Given the description of an element on the screen output the (x, y) to click on. 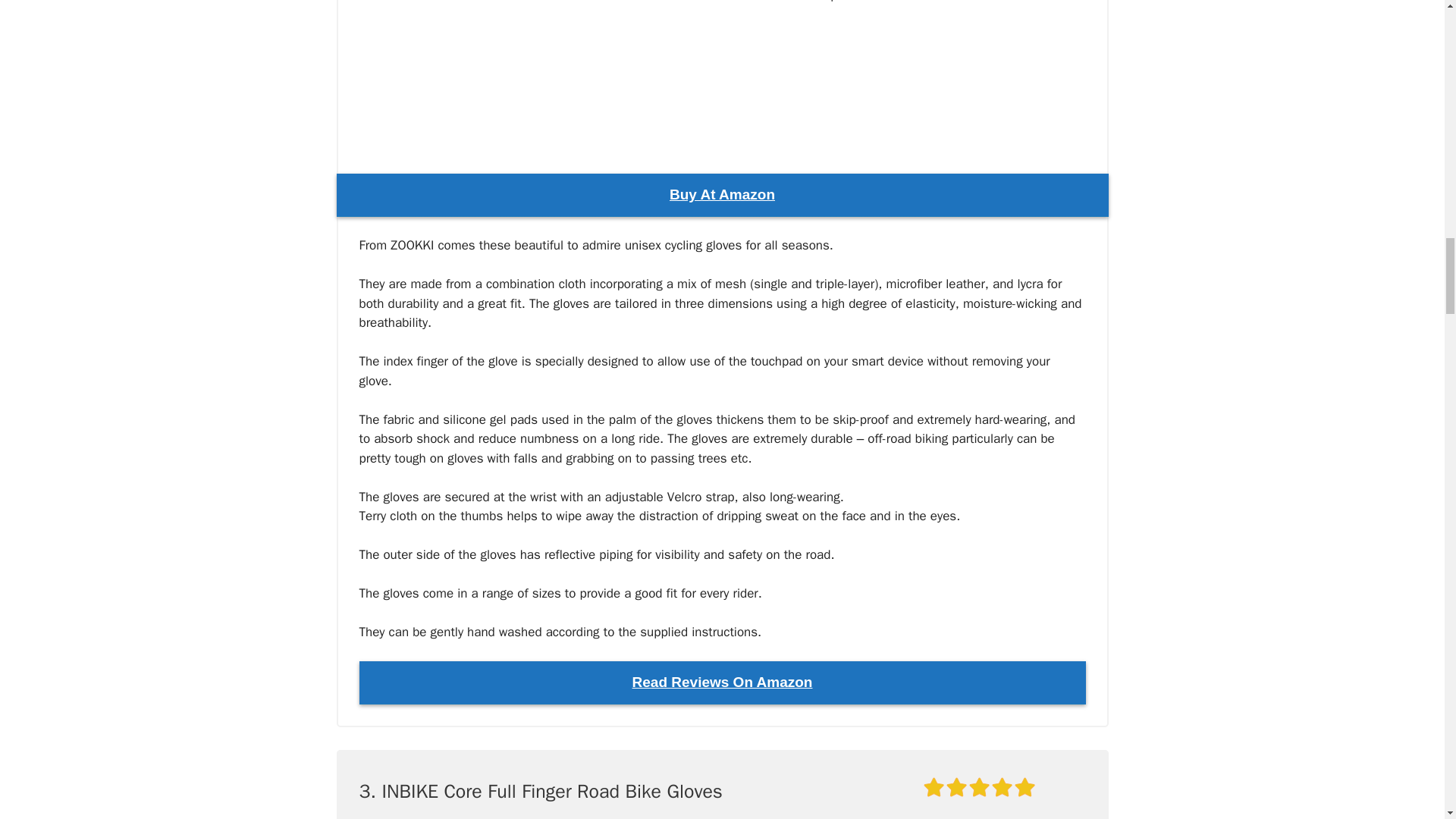
Buy At Amazon (722, 195)
cycle-gloves-2 (512, 63)
Read Reviews On Amazon (722, 682)
